Given the description of an element on the screen output the (x, y) to click on. 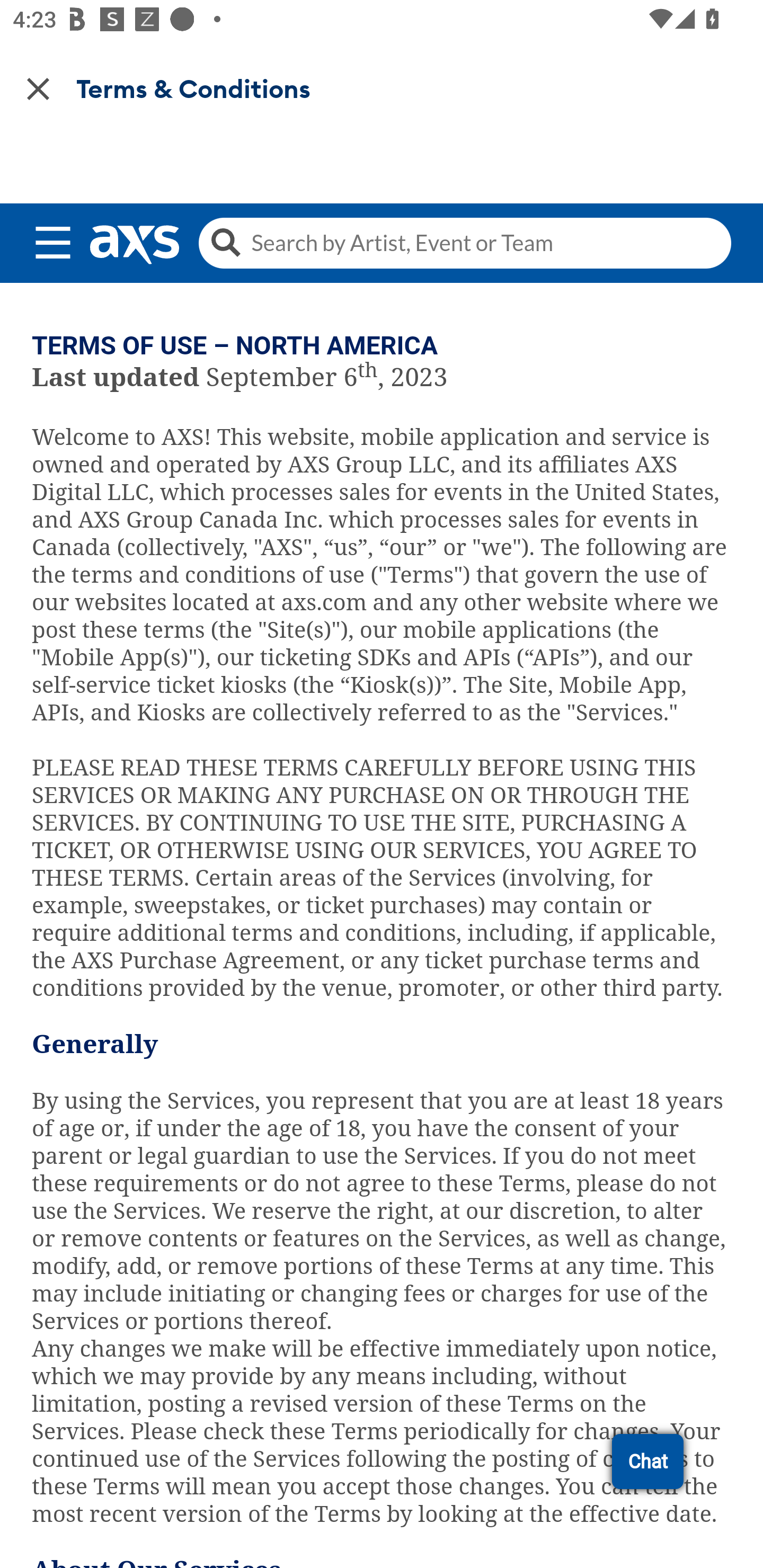
Close (38, 88)
search (464, 242)
menu (53, 238)
axs-logo (134, 245)
open chat (647, 1461)
